Given the description of an element on the screen output the (x, y) to click on. 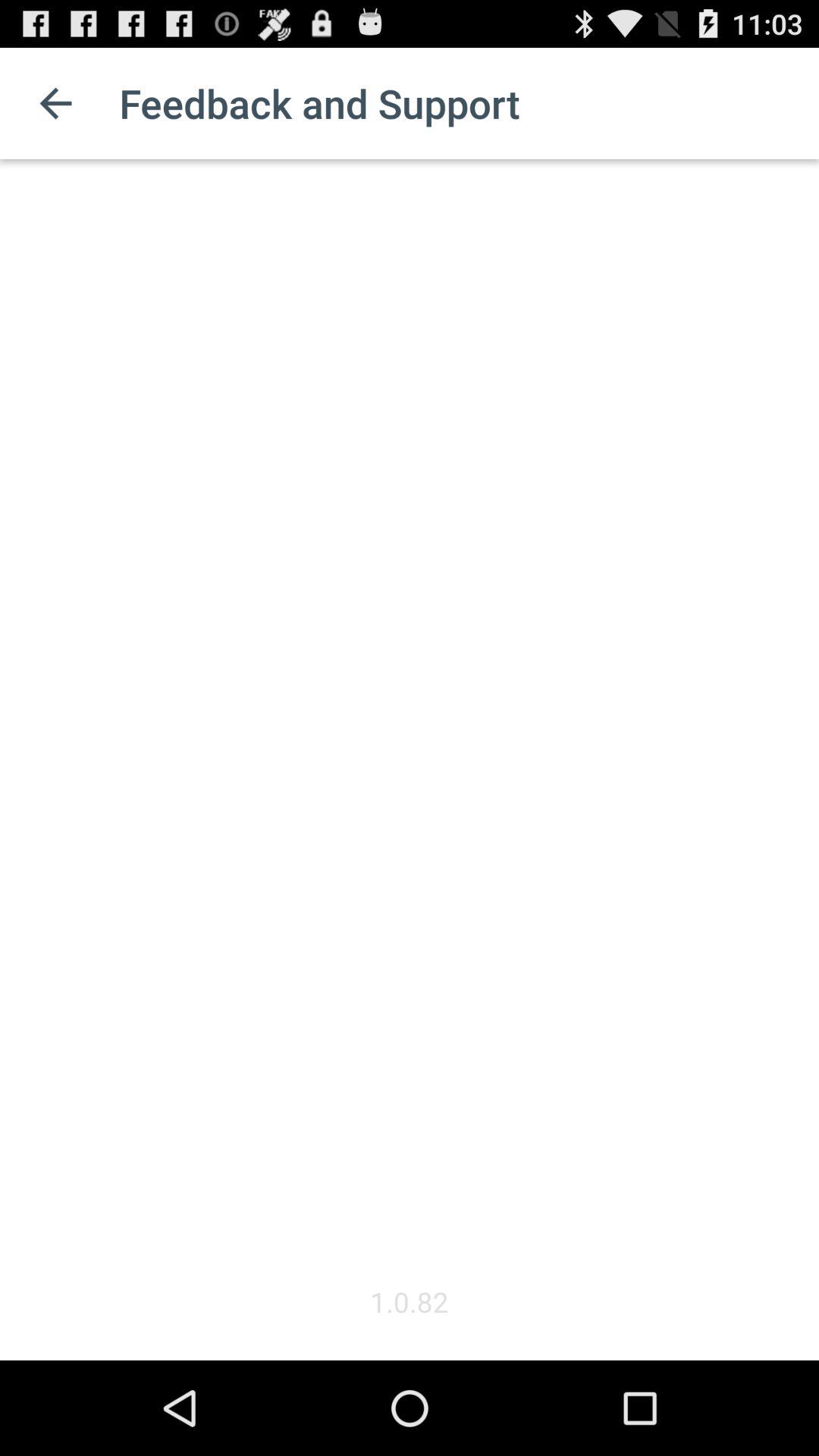
press the icon to the left of the feedback and support (55, 103)
